Given the description of an element on the screen output the (x, y) to click on. 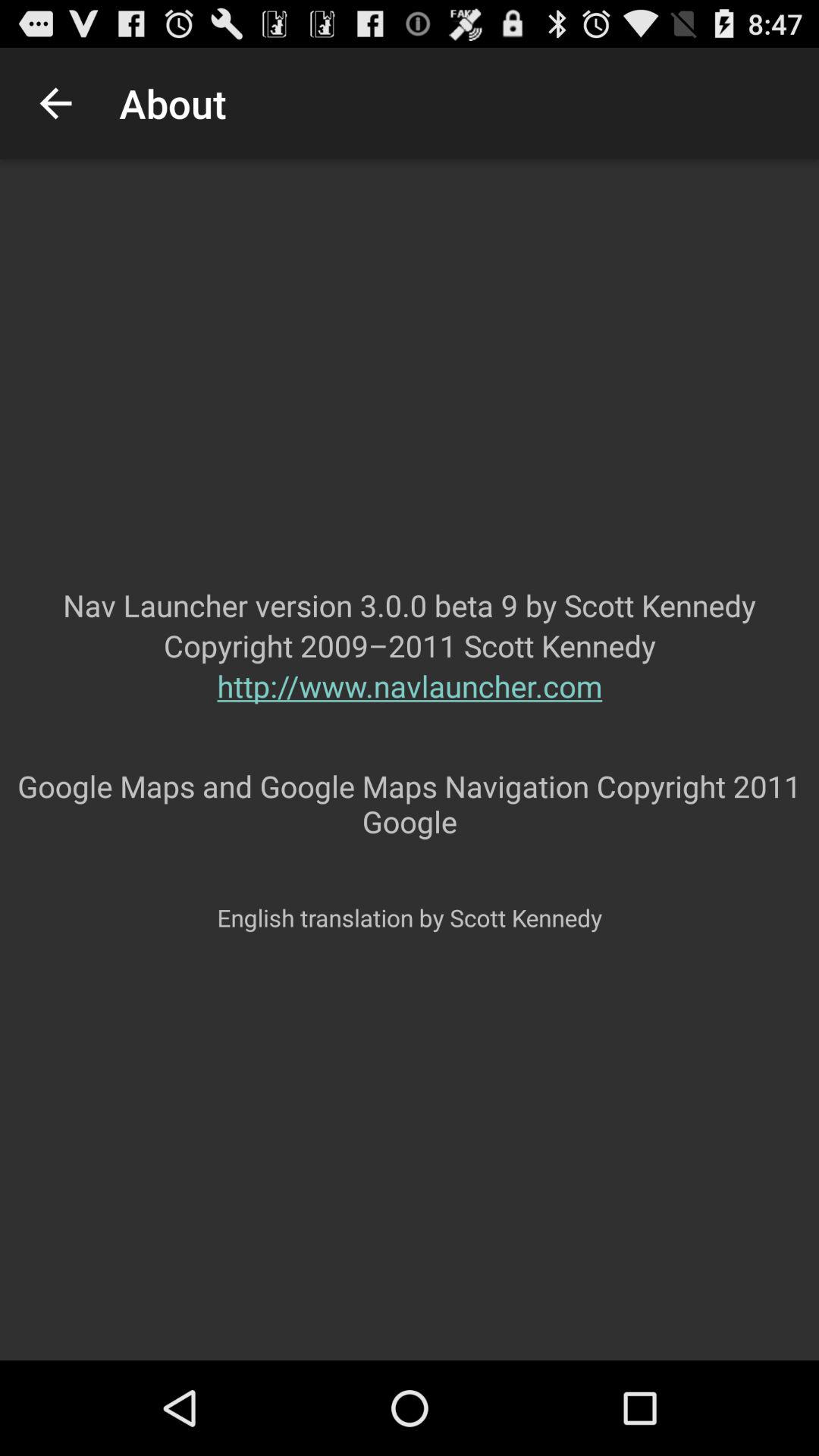
choose the item below copyright 2009 2011 app (409, 716)
